Given the description of an element on the screen output the (x, y) to click on. 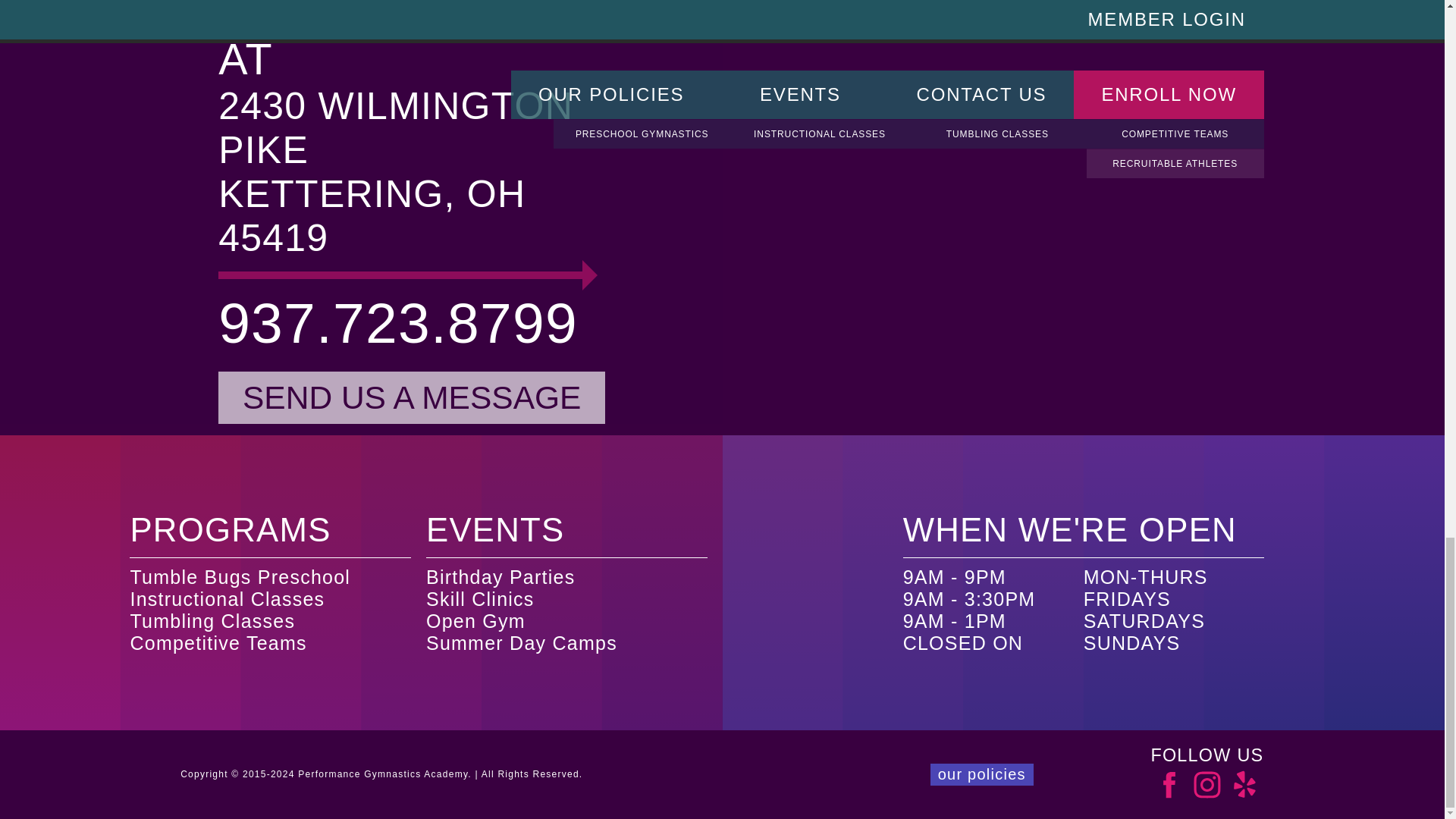
937.723.8799 (432, 322)
Instagram (1206, 784)
SEND US A MESSAGE (411, 397)
Yelp (1244, 784)
our policies (981, 774)
Facebook (1169, 784)
Tumbling Classes (212, 620)
Tumble Bugs Preschool (239, 577)
Summer Day Camps (521, 642)
Birthday Parties (500, 577)
